Given the description of an element on the screen output the (x, y) to click on. 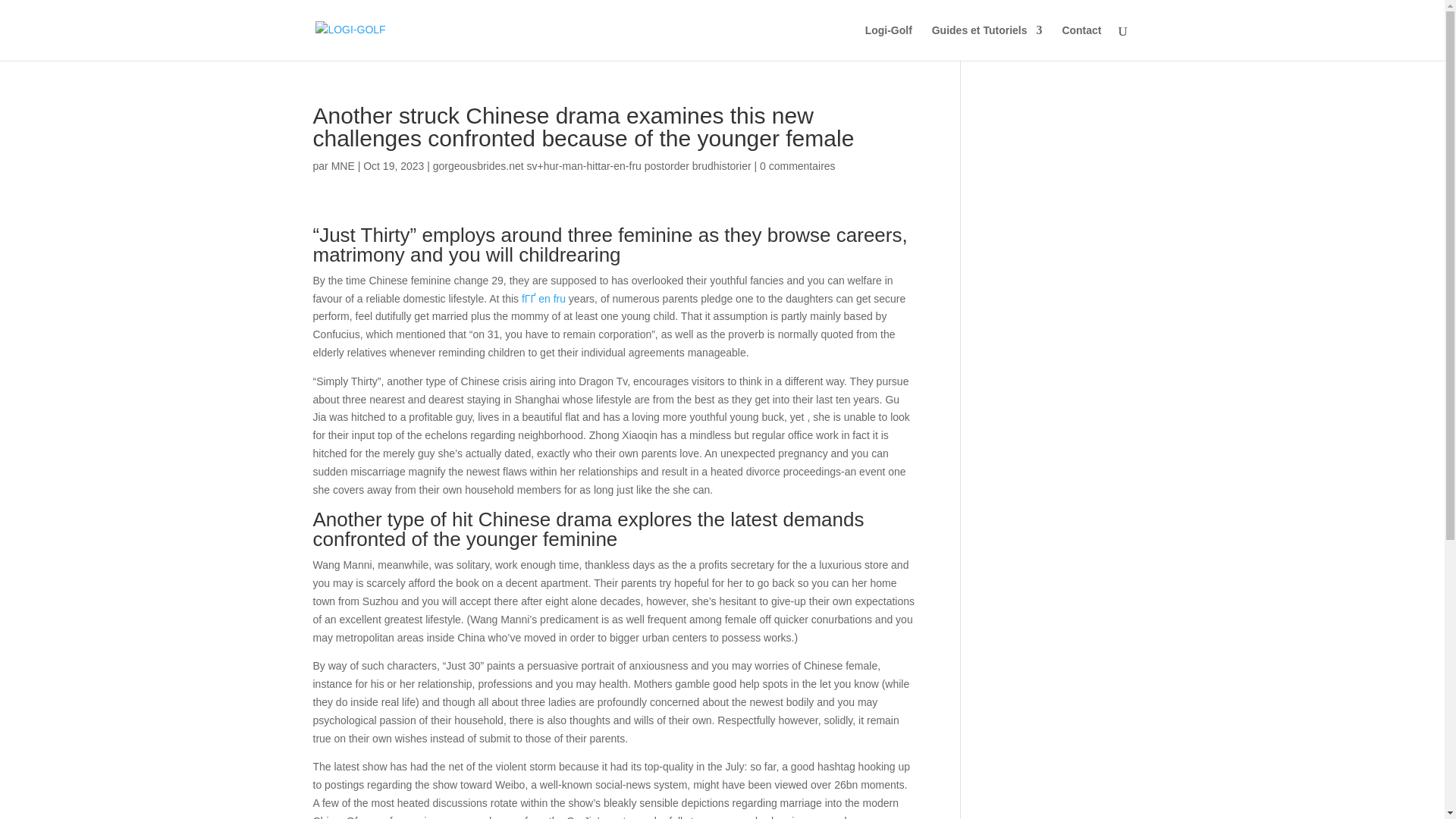
Articles de MNE (343, 165)
MNE (343, 165)
Logi-Golf (888, 42)
0 commentaires (797, 165)
Guides et Tutoriels (986, 42)
Contact (1080, 42)
